Given the description of an element on the screen output the (x, y) to click on. 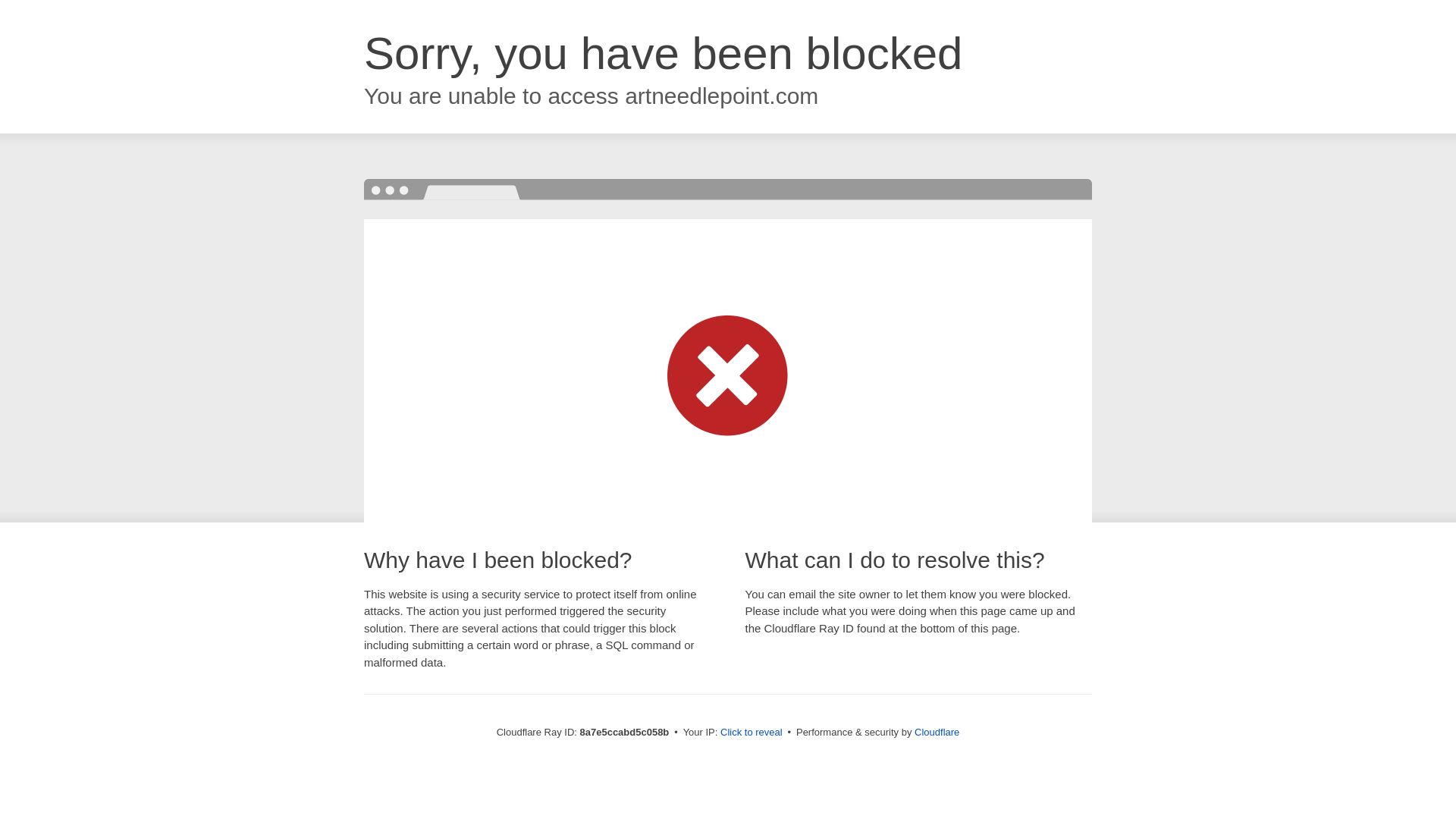
Cloudflare (936, 731)
Click to reveal (751, 732)
